Given the description of an element on the screen output the (x, y) to click on. 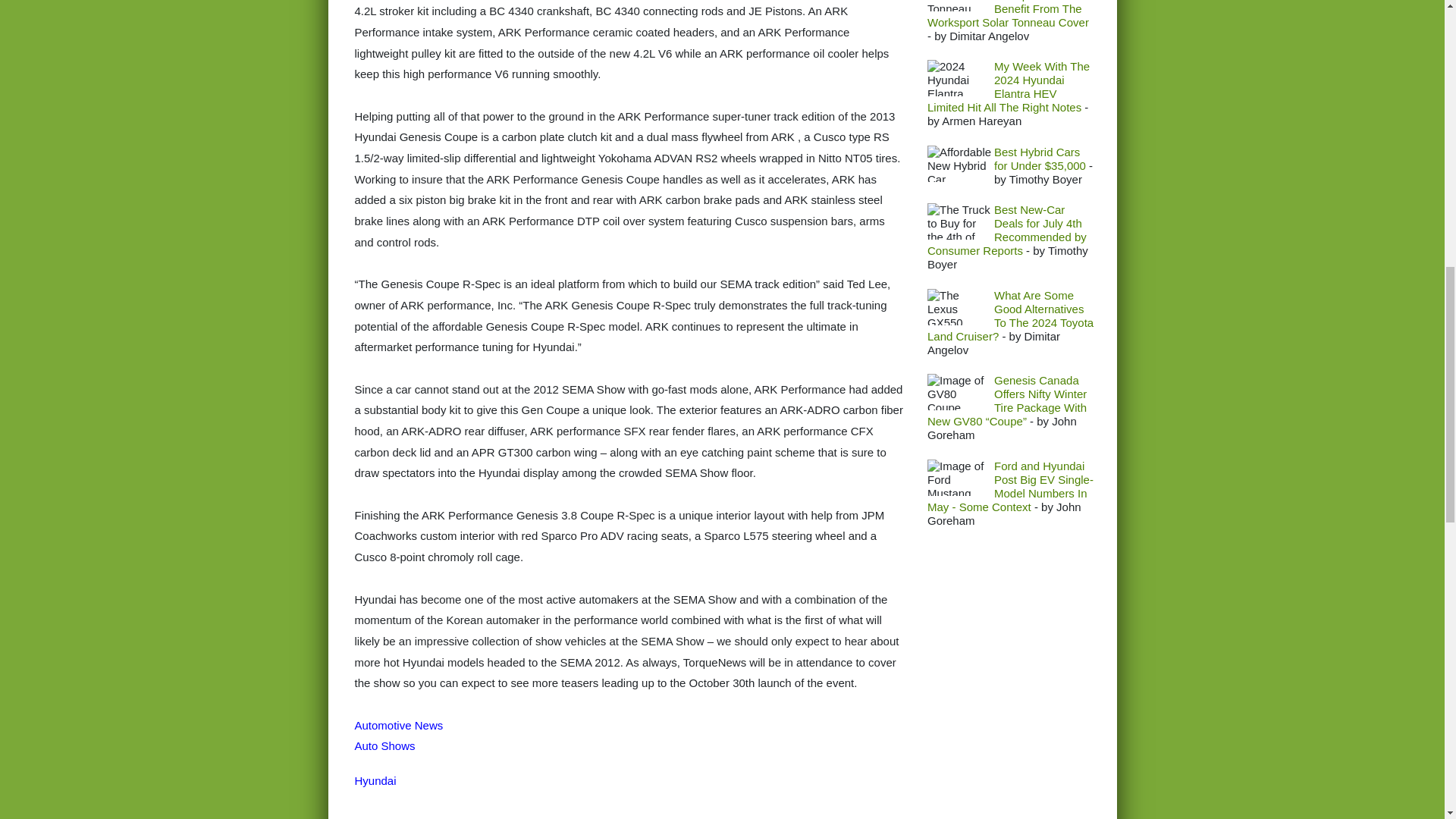
Hyundai (375, 780)
Automotive News (399, 725)
Share your thoughts and opinions. (420, 818)
Auto Shows (384, 745)
Add new comment (420, 818)
